Given the description of an element on the screen output the (x, y) to click on. 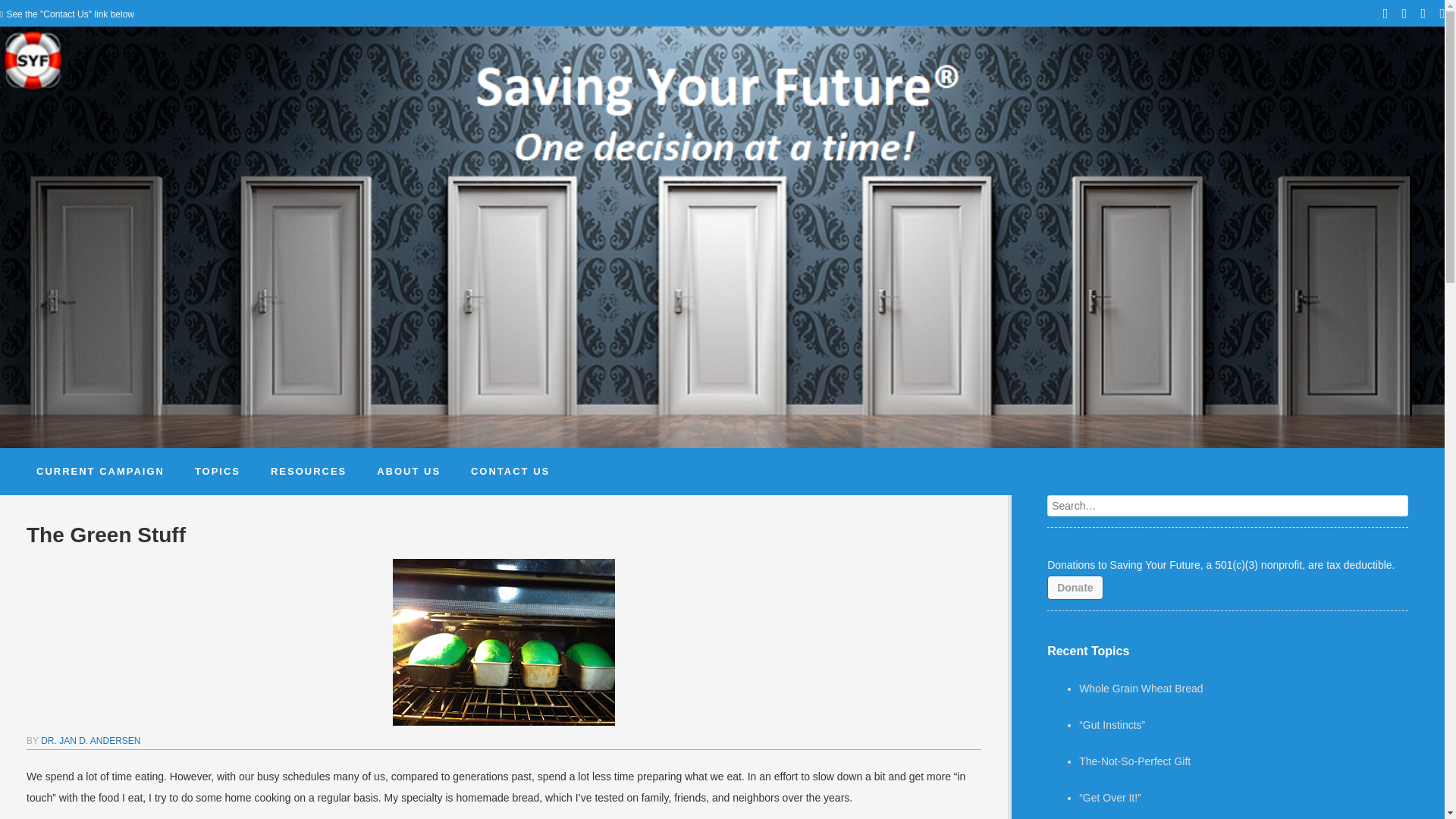
CURRENT CAMPAIGN (100, 471)
Whole Grain Wheat Bread (1140, 688)
CONTACT US (510, 471)
TOPICS (216, 471)
Donate (1074, 587)
Search (22, 9)
DR. JAN D. ANDERSEN (89, 740)
The-Not-So-Perfect Gift (1134, 761)
ABOUT US (408, 471)
Facebook (1386, 14)
View all posts by Dr. Jan D. Andersen (89, 740)
Youtube (1423, 14)
The Green Stuff (503, 534)
Twitter (1404, 14)
RESOURCES (308, 471)
